Given the description of an element on the screen output the (x, y) to click on. 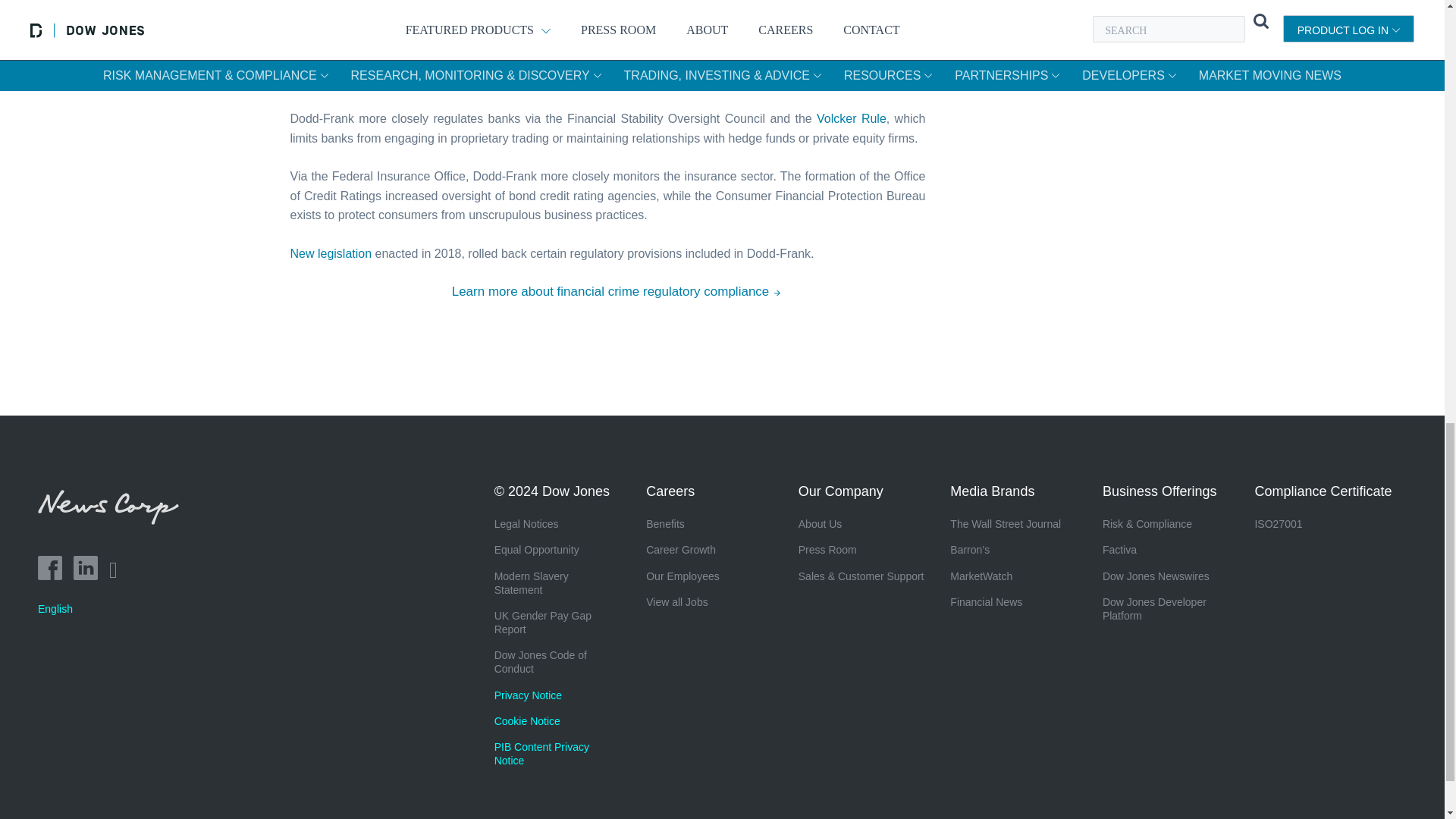
Newscorp (113, 520)
